Given the description of an element on the screen output the (x, y) to click on. 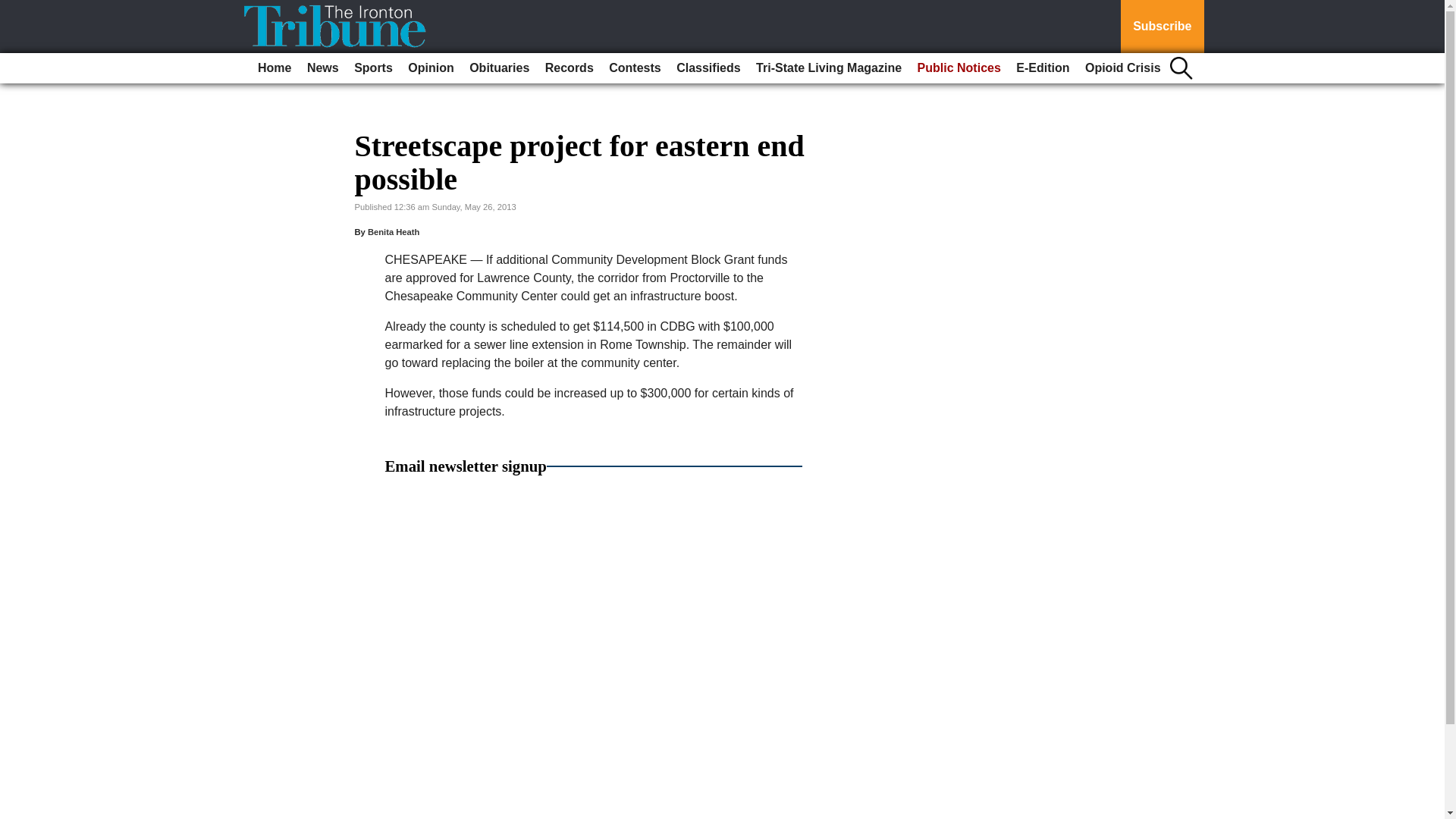
Go (13, 9)
Opinion (430, 68)
Opioid Crisis (1122, 68)
Sports (372, 68)
Subscribe (1162, 26)
Records (568, 68)
Benita Heath (393, 231)
Home (274, 68)
Obituaries (499, 68)
News (323, 68)
